Given the description of an element on the screen output the (x, y) to click on. 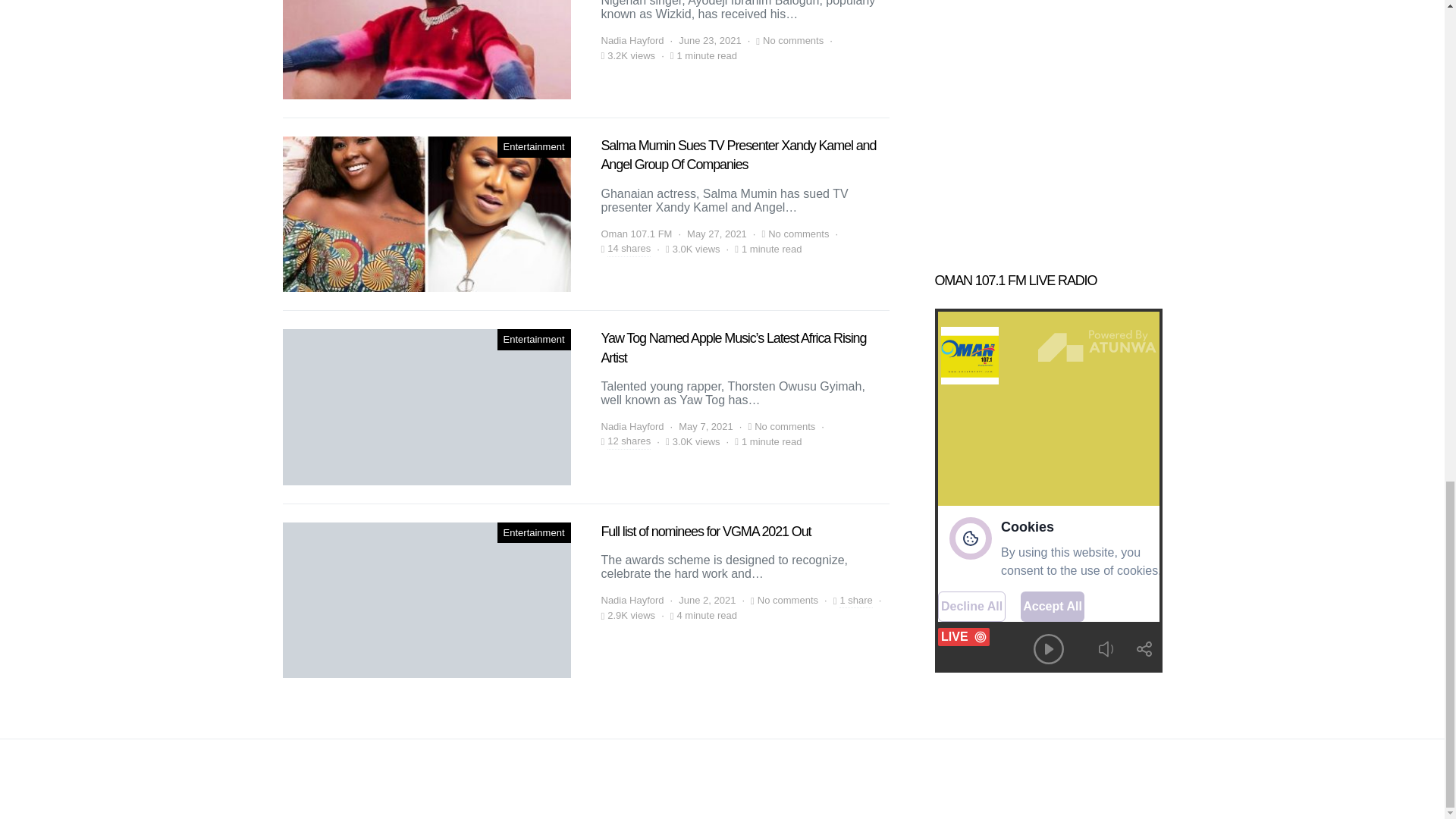
View all posts by Oman 107.1 FM (635, 233)
View all posts by Nadia Hayford (631, 600)
View all posts by Nadia Hayford (631, 40)
View all posts by Nadia Hayford (631, 426)
